Given the description of an element on the screen output the (x, y) to click on. 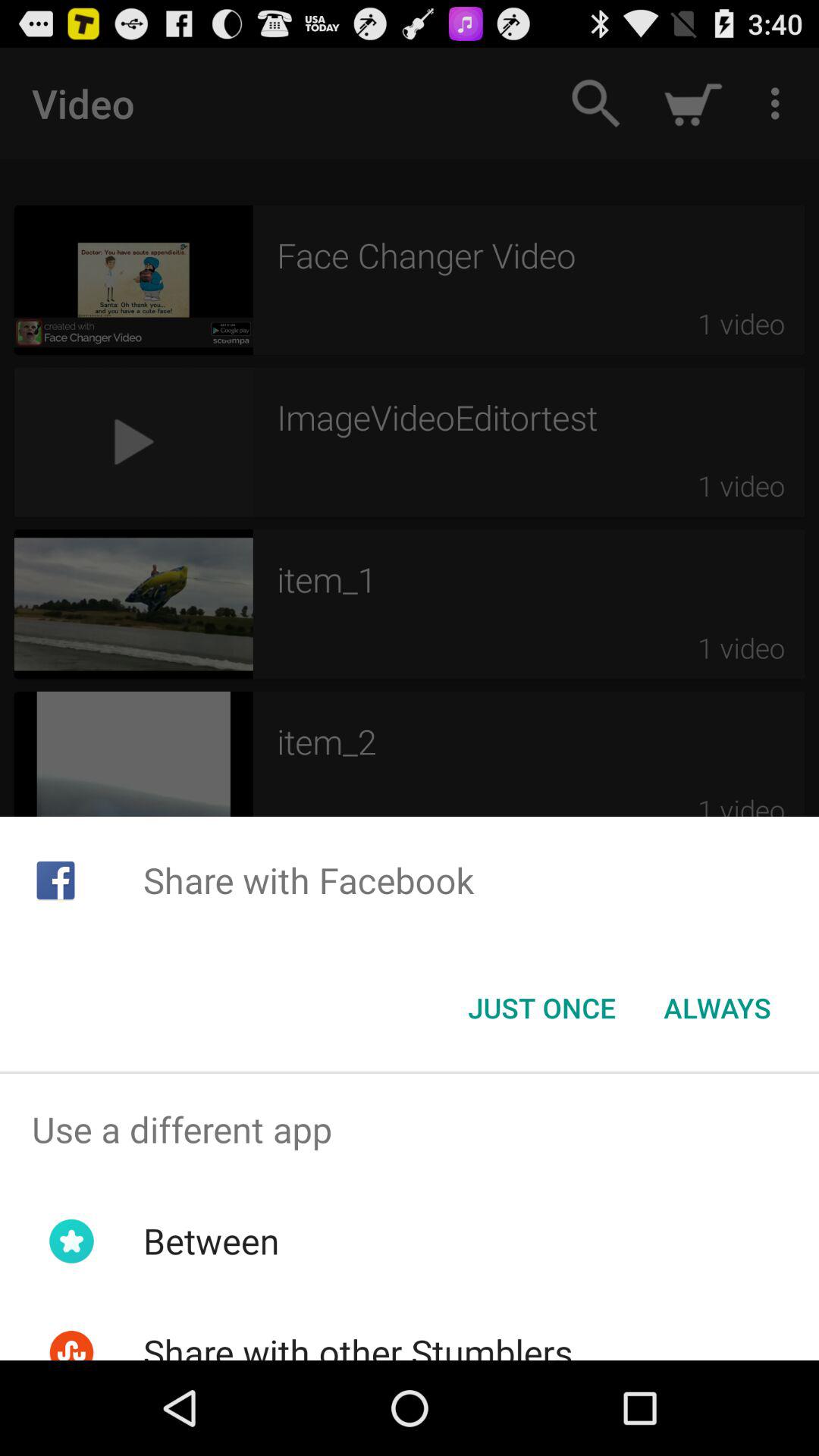
tap the item below share with facebook (541, 1007)
